Given the description of an element on the screen output the (x, y) to click on. 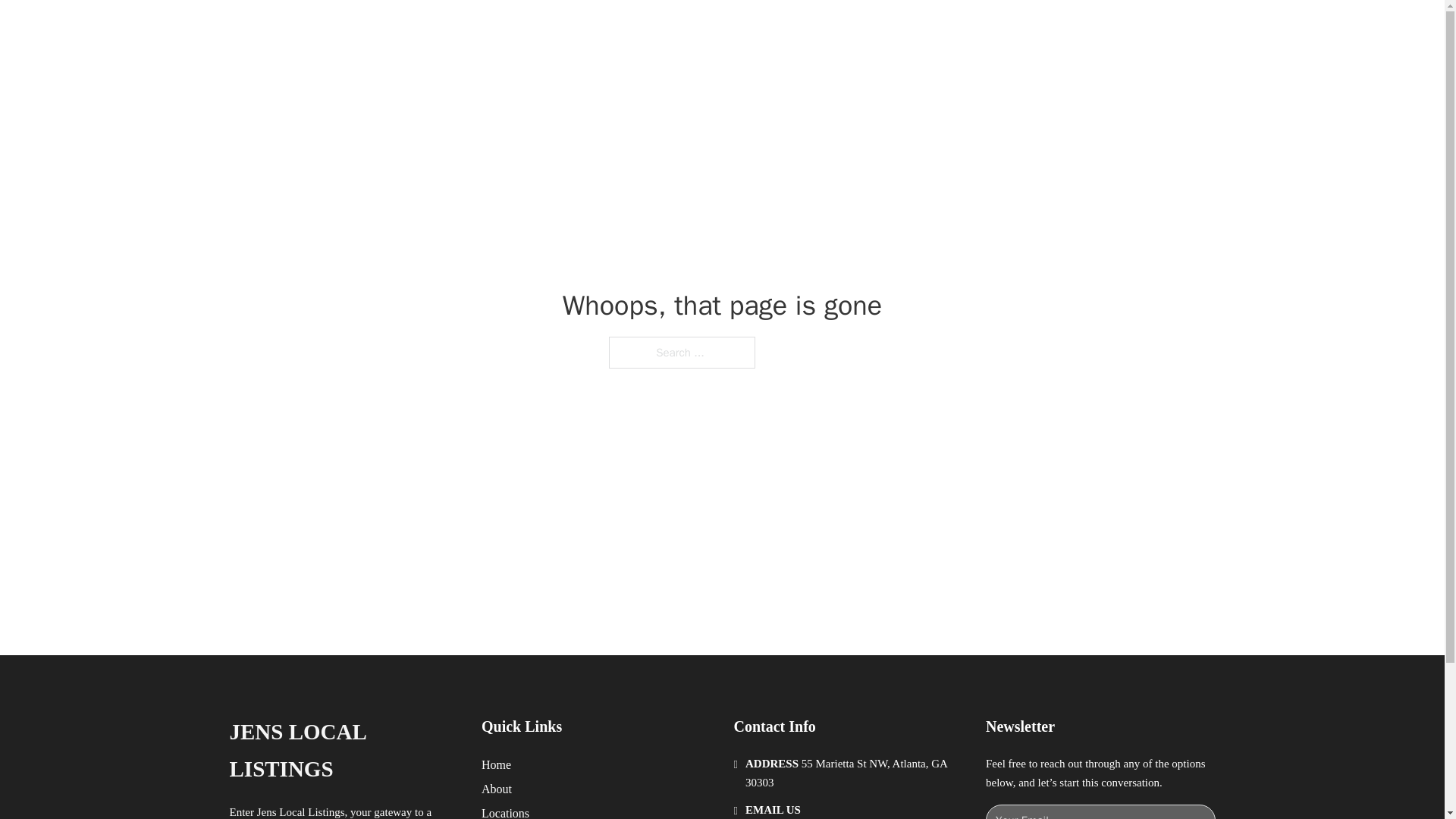
JENS LOCAL LISTINGS (343, 750)
Home (496, 764)
JENS LOCAL LISTINGS (419, 28)
Locations (505, 811)
About (496, 788)
